Given the description of an element on the screen output the (x, y) to click on. 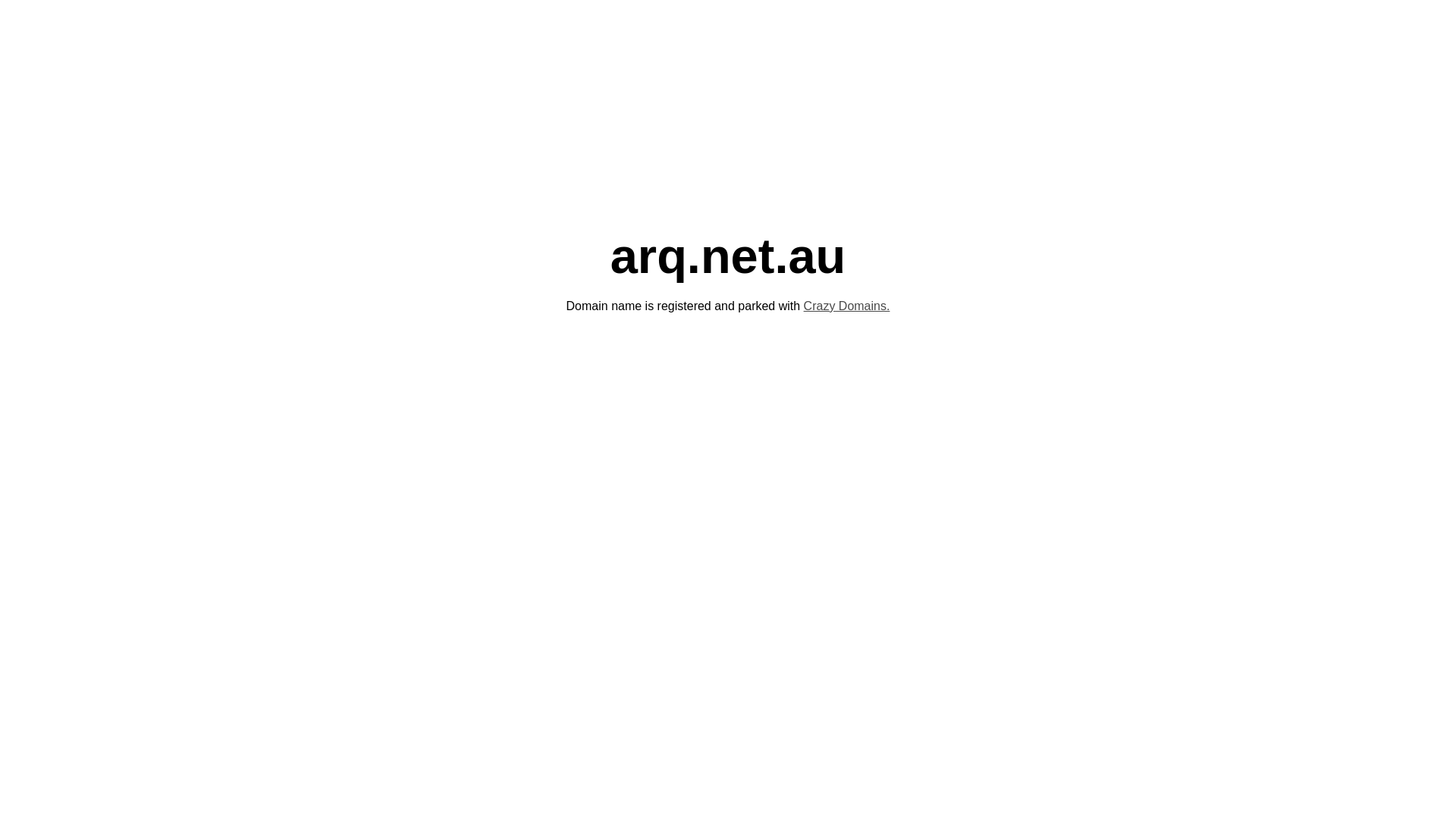
Crazy Domains. Element type: text (846, 305)
